Given the description of an element on the screen output the (x, y) to click on. 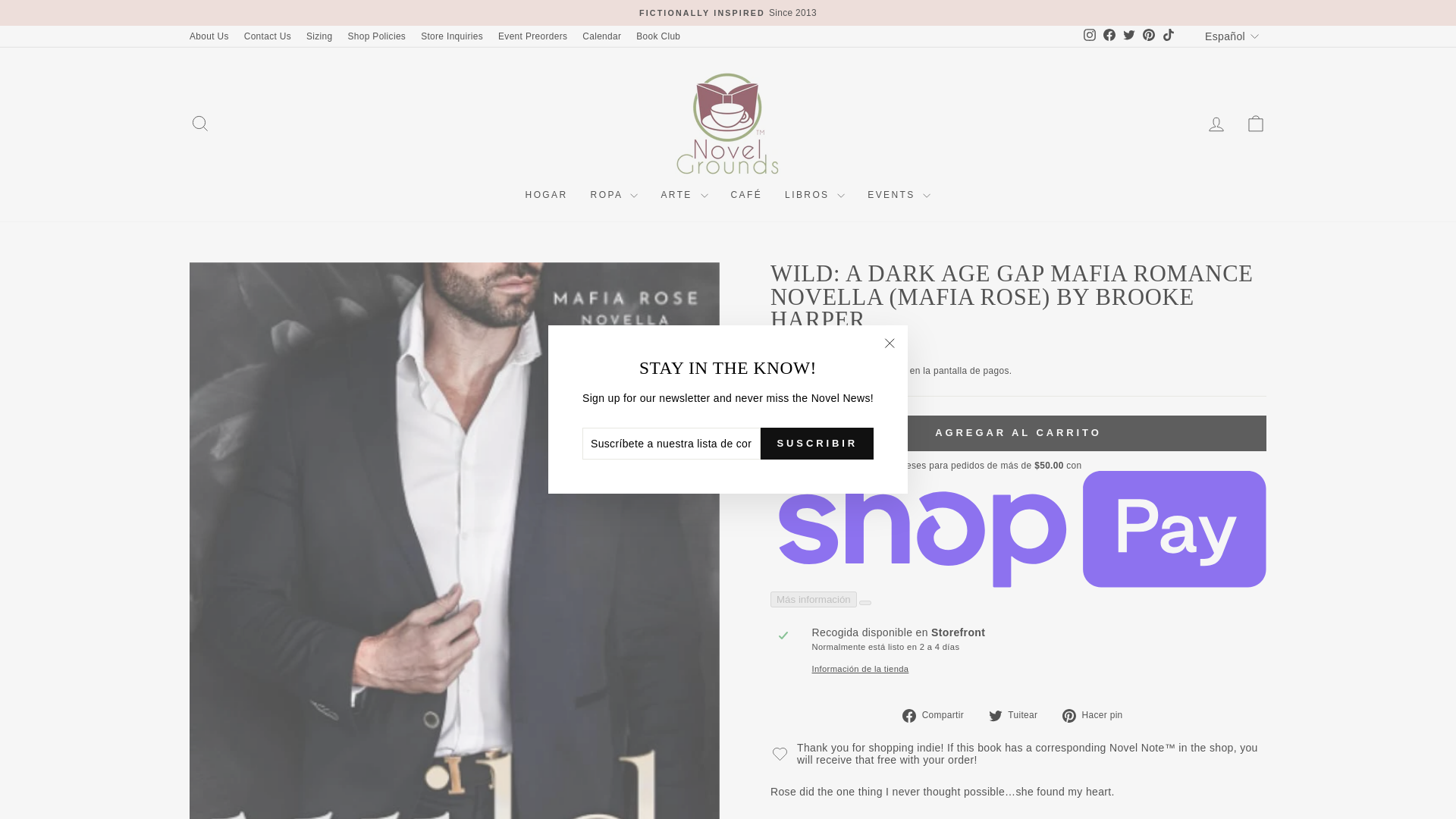
twitter (1128, 34)
ACCOUNT (1216, 124)
Novel Grounds en Pinterest (1148, 35)
Novel Grounds en Twitter (1128, 35)
Novel Grounds en Instagram (1089, 35)
Pinear en Pinterest (1098, 714)
Novel Grounds en Facebook (1109, 35)
twitter (995, 715)
instagram (1089, 34)
Novel Grounds en TikTok (1167, 35)
ICON-BAG-MINIMAL (1255, 123)
ICON-SEARCH (200, 123)
icon-X (889, 342)
Tuitear en Twitter (1018, 714)
Compartir en Facebook (938, 714)
